Given the description of an element on the screen output the (x, y) to click on. 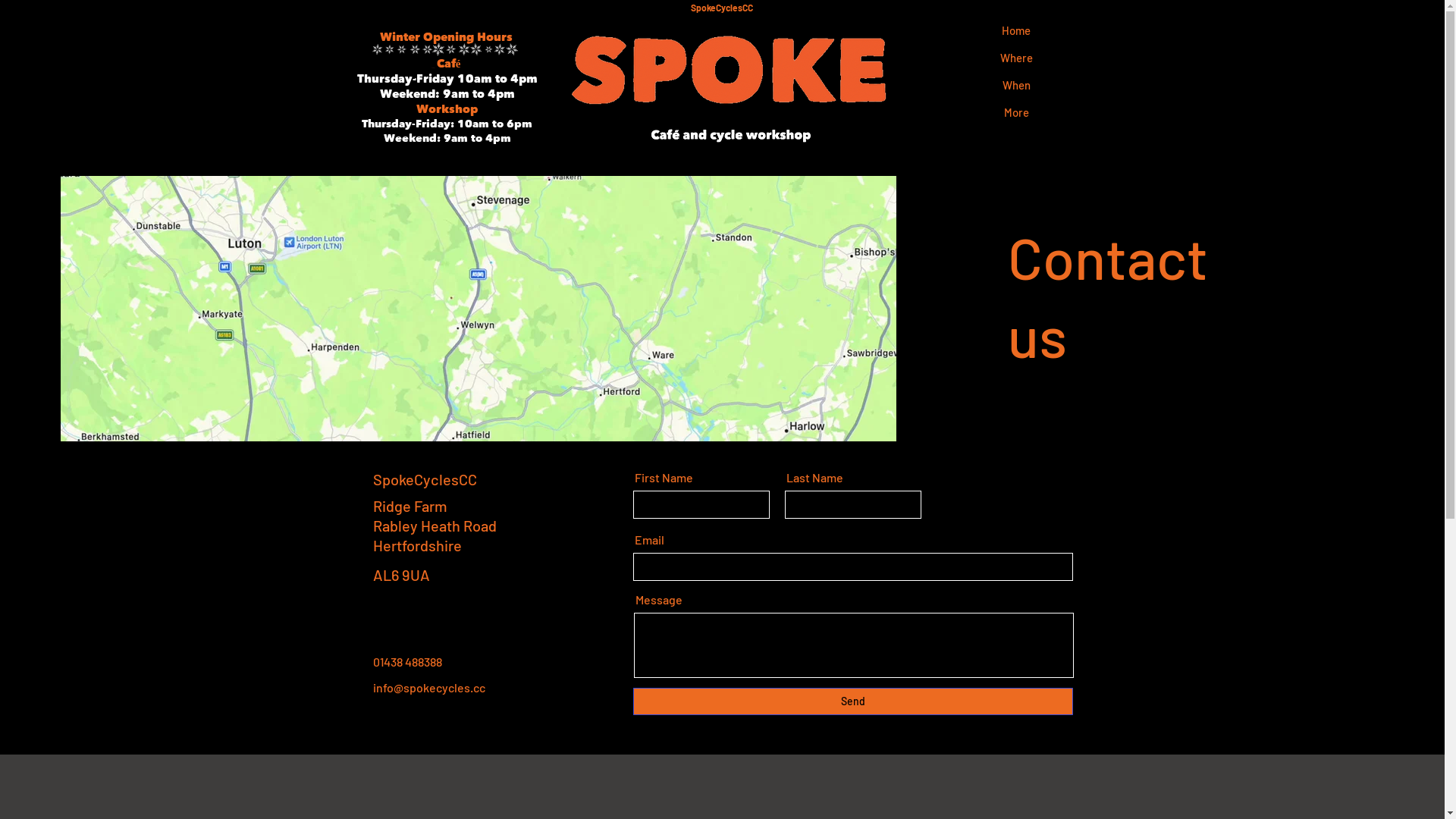
Home Element type: text (1015, 29)
Send Element type: text (852, 701)
Where Element type: text (1015, 57)
info@spokecycles.cc Element type: text (429, 687)
Untitled design (2).png Element type: hover (446, 49)
When Element type: text (1015, 84)
3EEF860E-EDEC-4710-BD30-3A38052212AE_edi Element type: hover (432, 66)
